Given the description of an element on the screen output the (x, y) to click on. 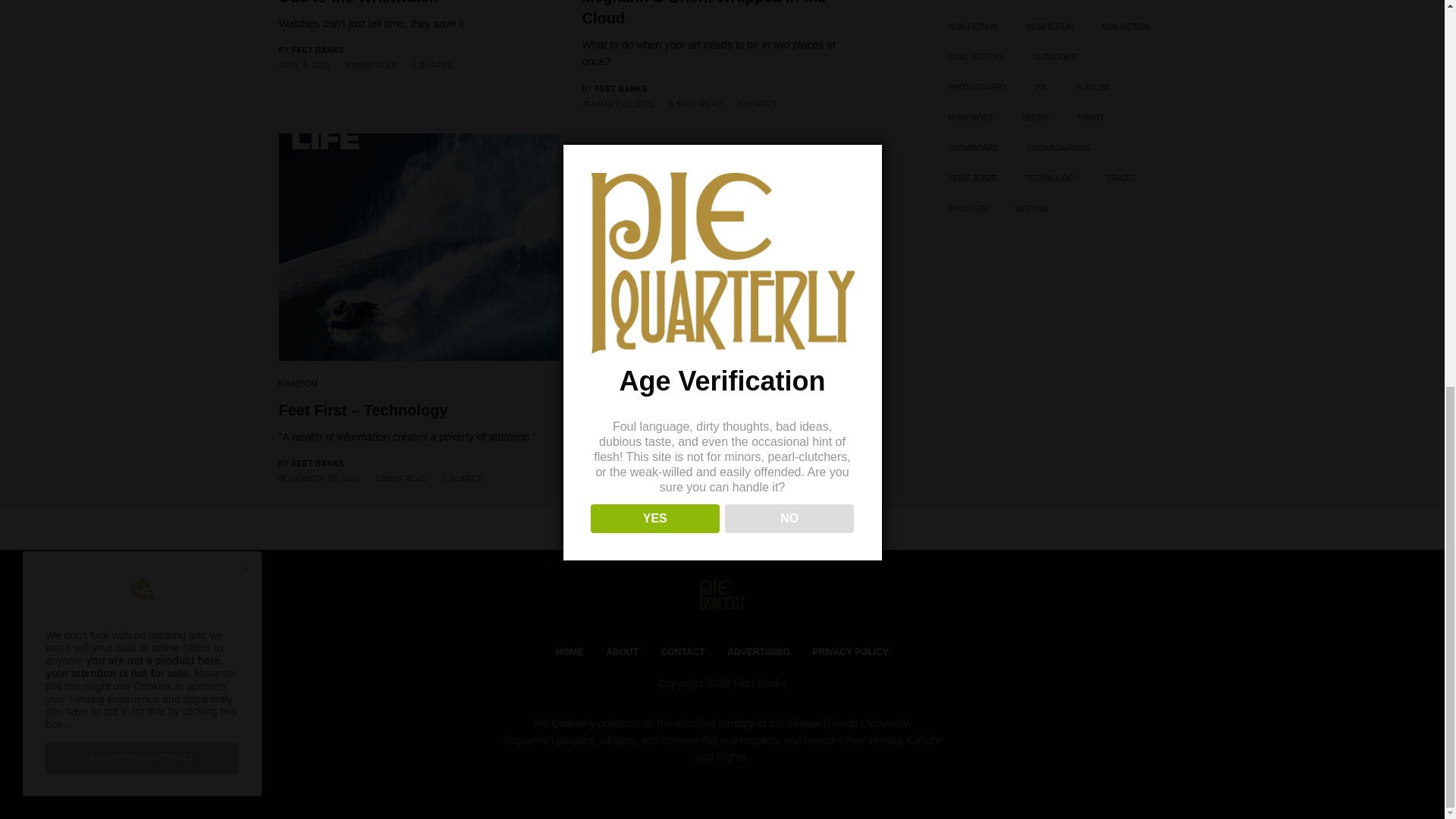
FEET BANKS (317, 463)
Posts by Feet Banks (317, 463)
FEET BANKS (621, 89)
Pie Quarterly (722, 594)
Posts by Feet Banks (317, 49)
Ode to the Wristwatch (419, 3)
RANDOM (298, 383)
Posts by Feet Banks (621, 89)
FEET BANKS (317, 49)
Ode to the Wristwatch (419, 3)
